Given the description of an element on the screen output the (x, y) to click on. 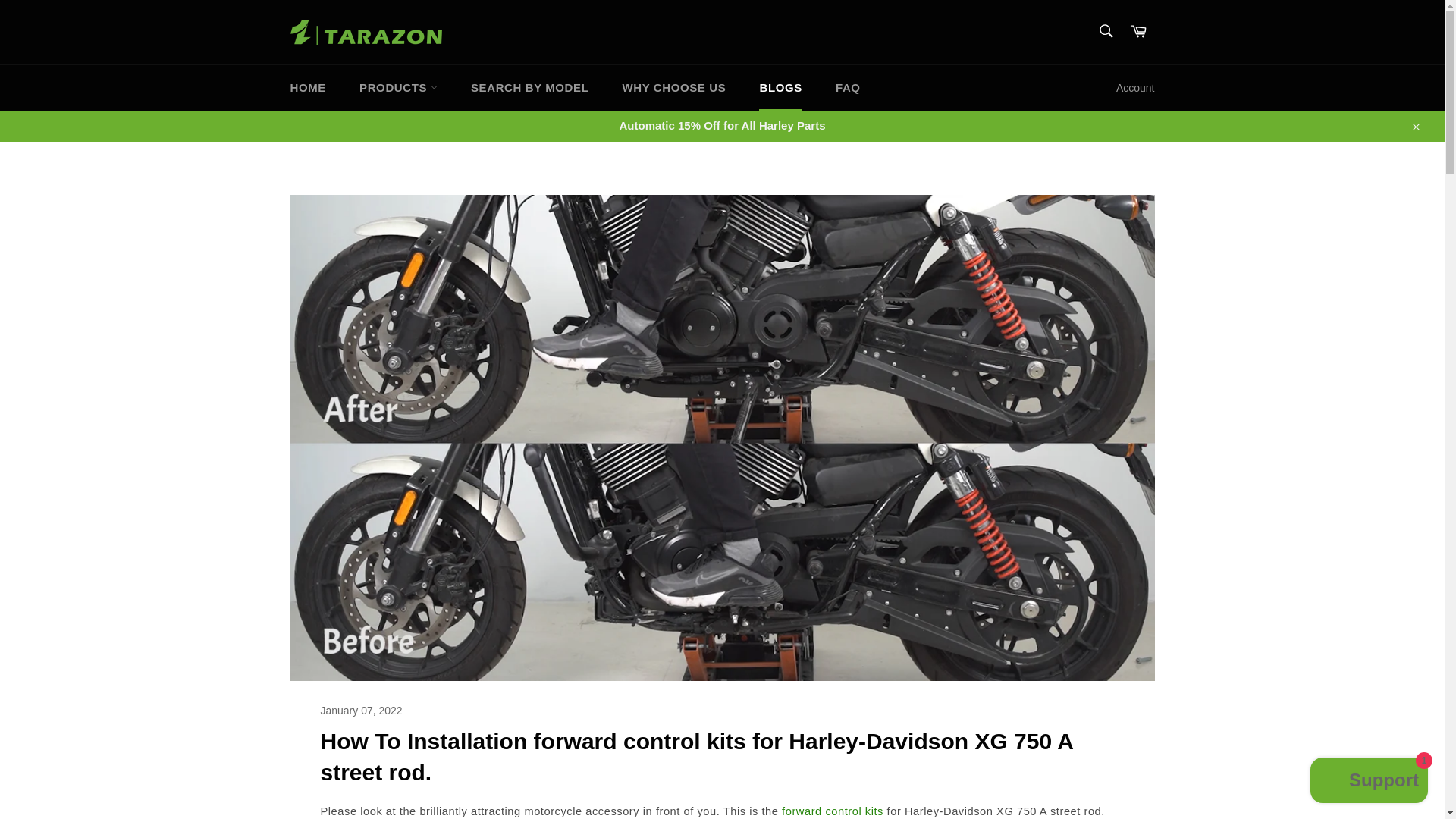
Search (1104, 30)
Cart (1138, 32)
HOME (307, 88)
Shopify online store chat (1369, 781)
PRODUCTS (397, 88)
